Given the description of an element on the screen output the (x, y) to click on. 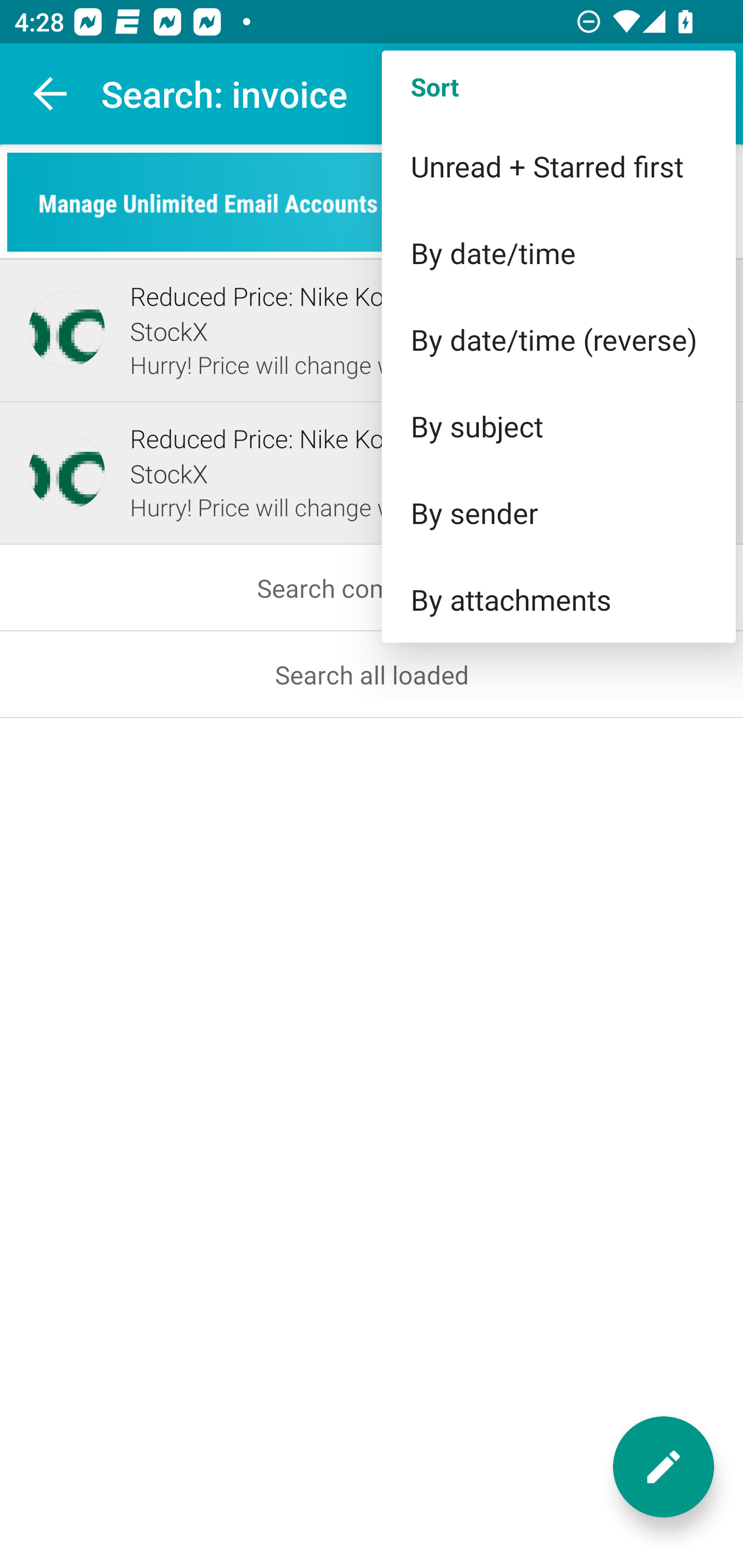
Unread + Starred first (558, 166)
By date/time (558, 253)
By date/time (reverse) (558, 339)
By subject (558, 425)
By sender (558, 512)
By attachments (558, 599)
